Given the description of an element on the screen output the (x, y) to click on. 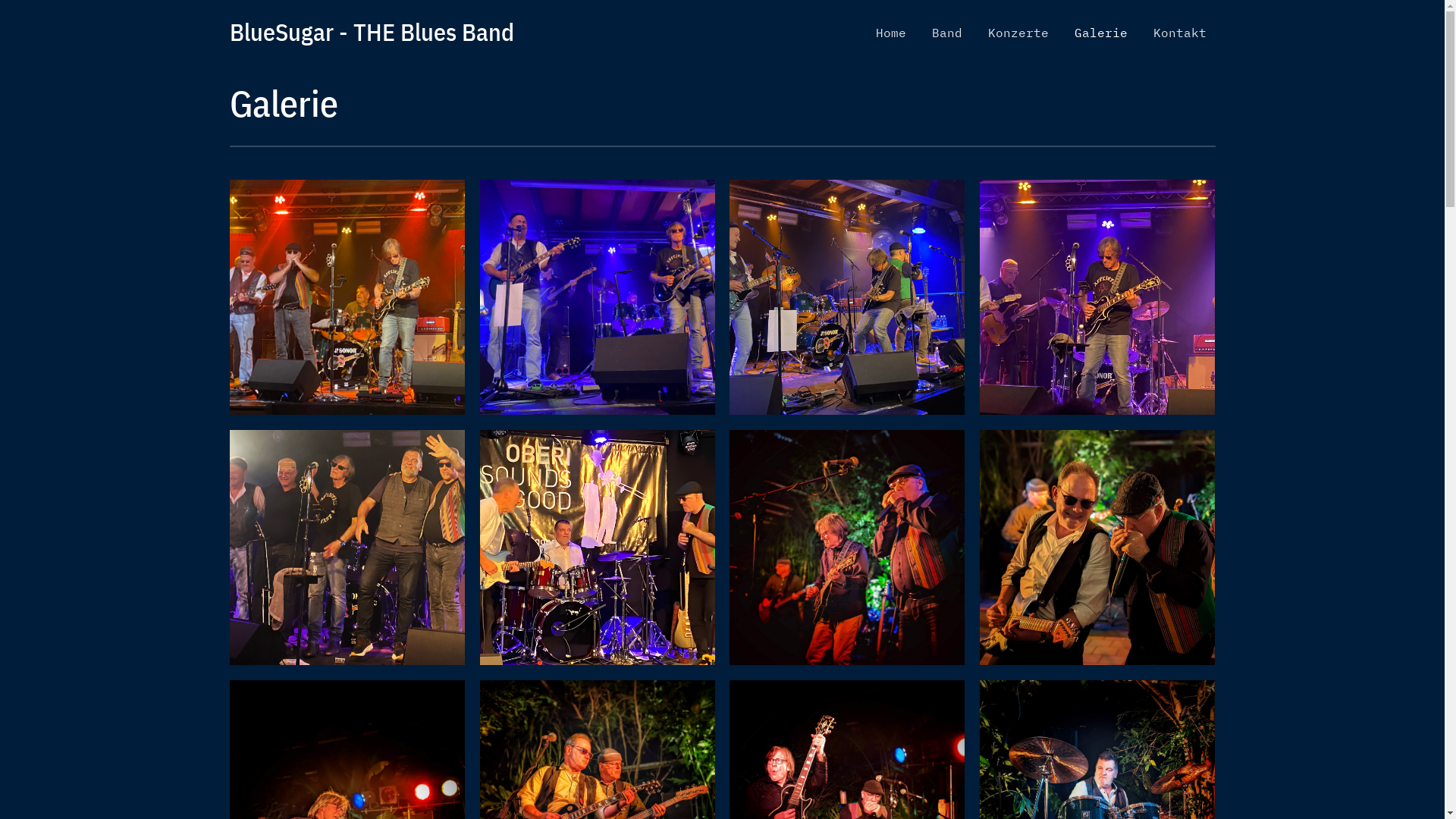
Home Element type: text (890, 32)
BlueSugar - THE Blues Band Element type: text (371, 31)
Galerie Element type: text (1099, 32)
Oberi Sounds Good Oberwinterthur Element type: hover (596, 547)
Thomas Claviez und Kari Rappersberger Element type: hover (1096, 547)
Kontakt Element type: text (1178, 32)
Konzerte Element type: text (1017, 32)
Band Element type: text (946, 32)
